Given the description of an element on the screen output the (x, y) to click on. 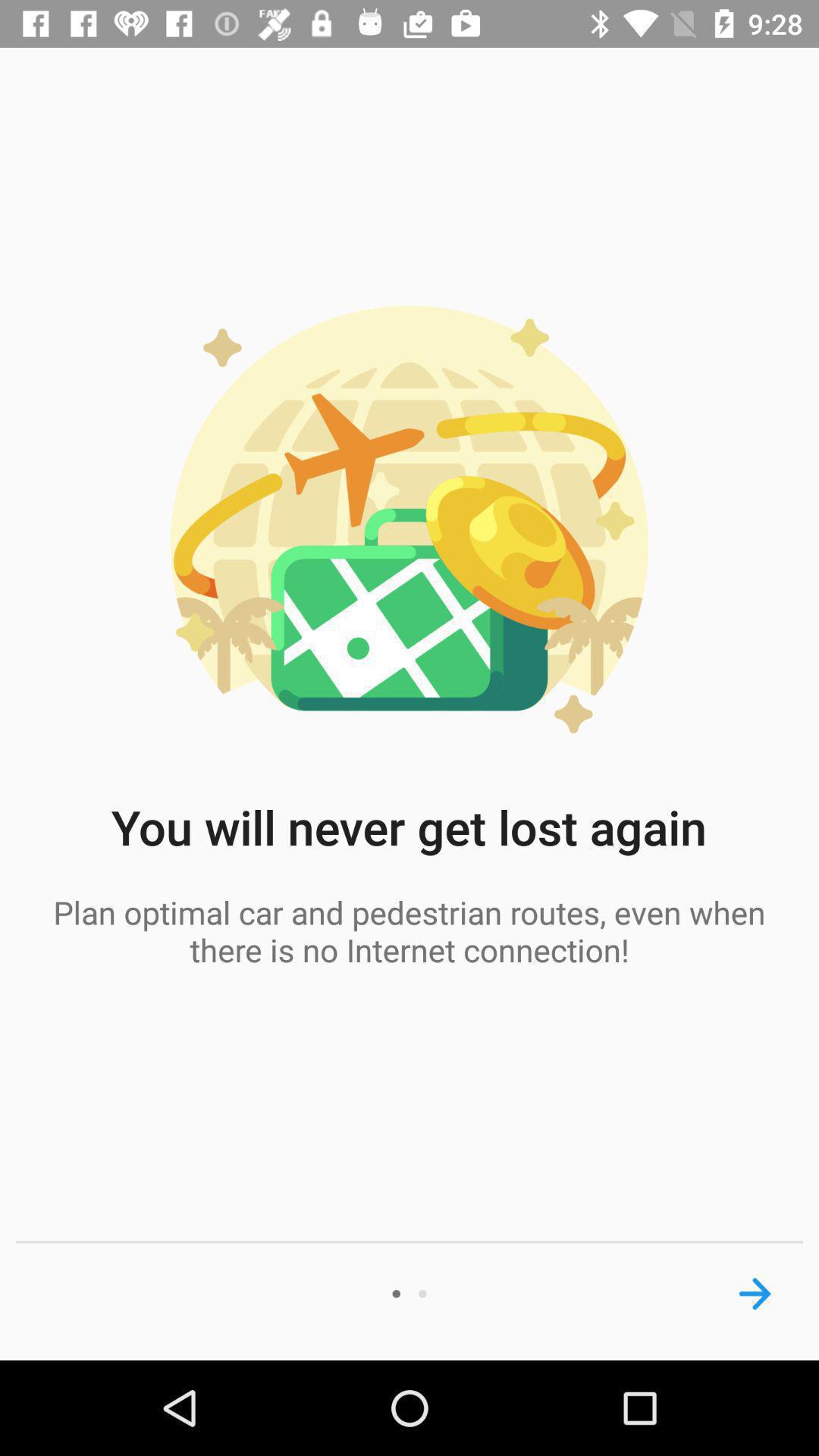
launch the icon at the bottom right corner (755, 1293)
